Given the description of an element on the screen output the (x, y) to click on. 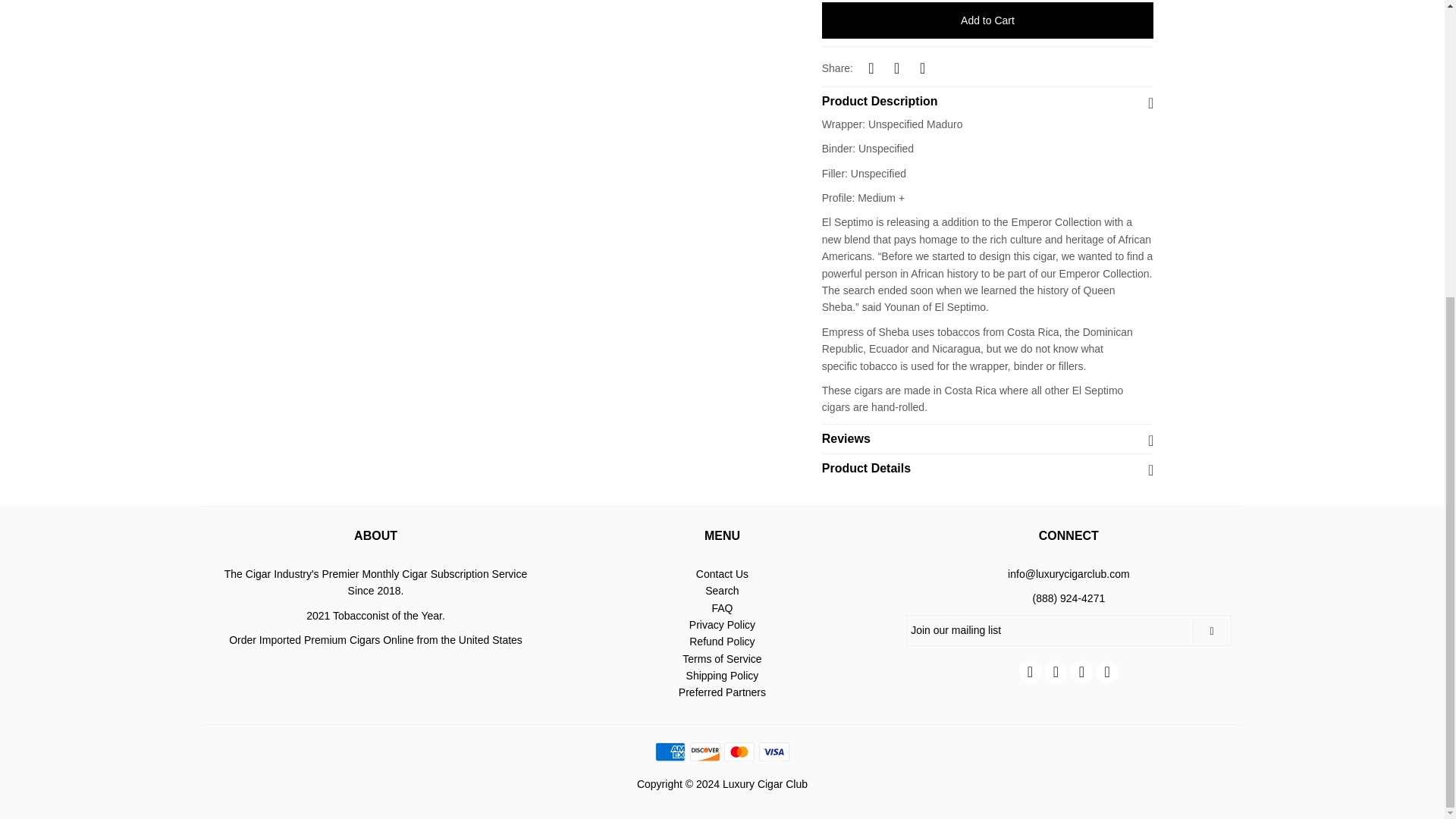
Share on Twitter (896, 67)
Visa (773, 751)
Discover (705, 751)
Share on Pinterest (922, 67)
Mastercard (738, 751)
Share on Facebook (871, 67)
American Express (670, 751)
Add to Cart (988, 20)
Product Description (988, 97)
Add to Cart (988, 20)
